Given the description of an element on the screen output the (x, y) to click on. 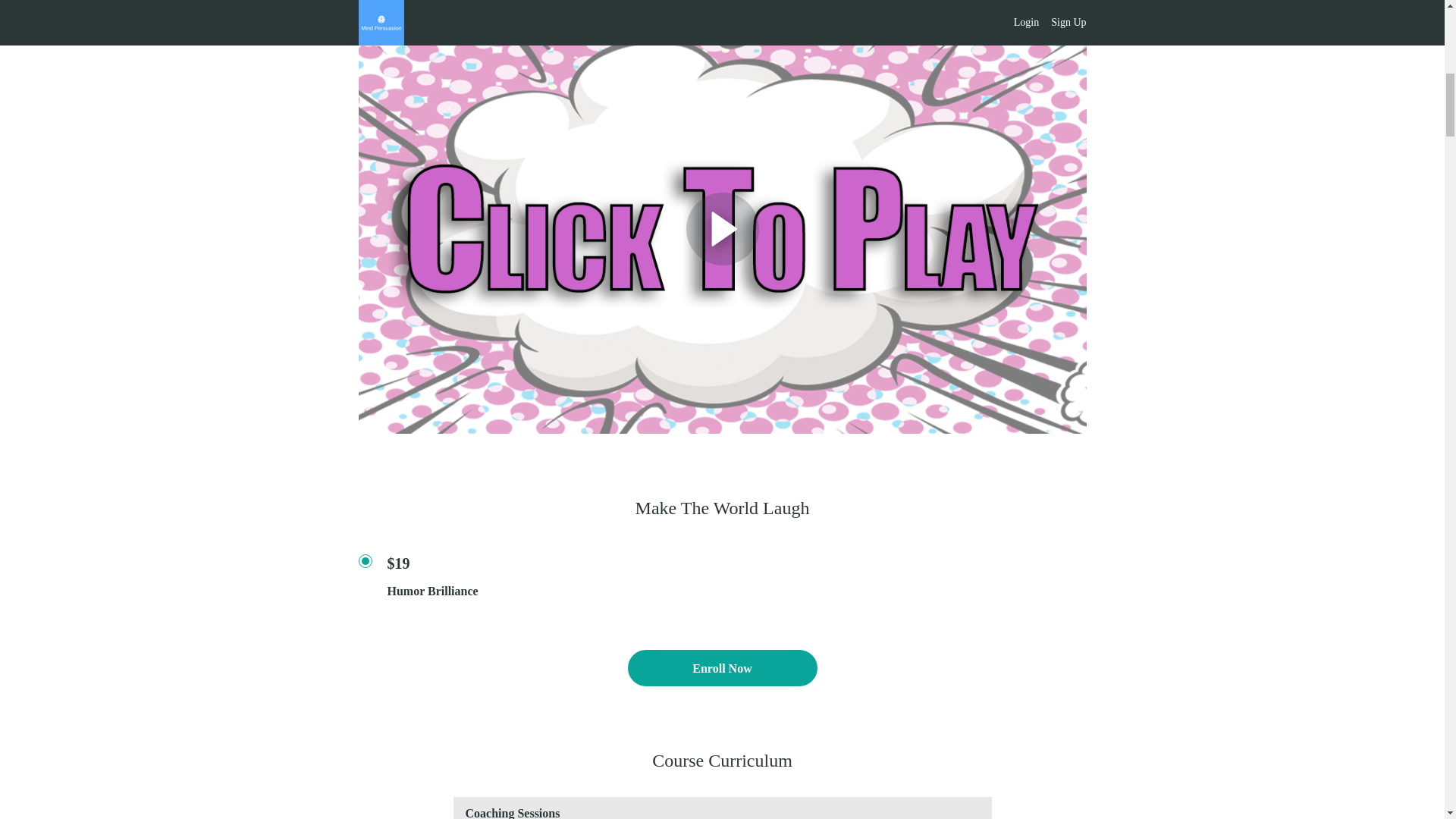
Enroll Now (721, 668)
